Given the description of an element on the screen output the (x, y) to click on. 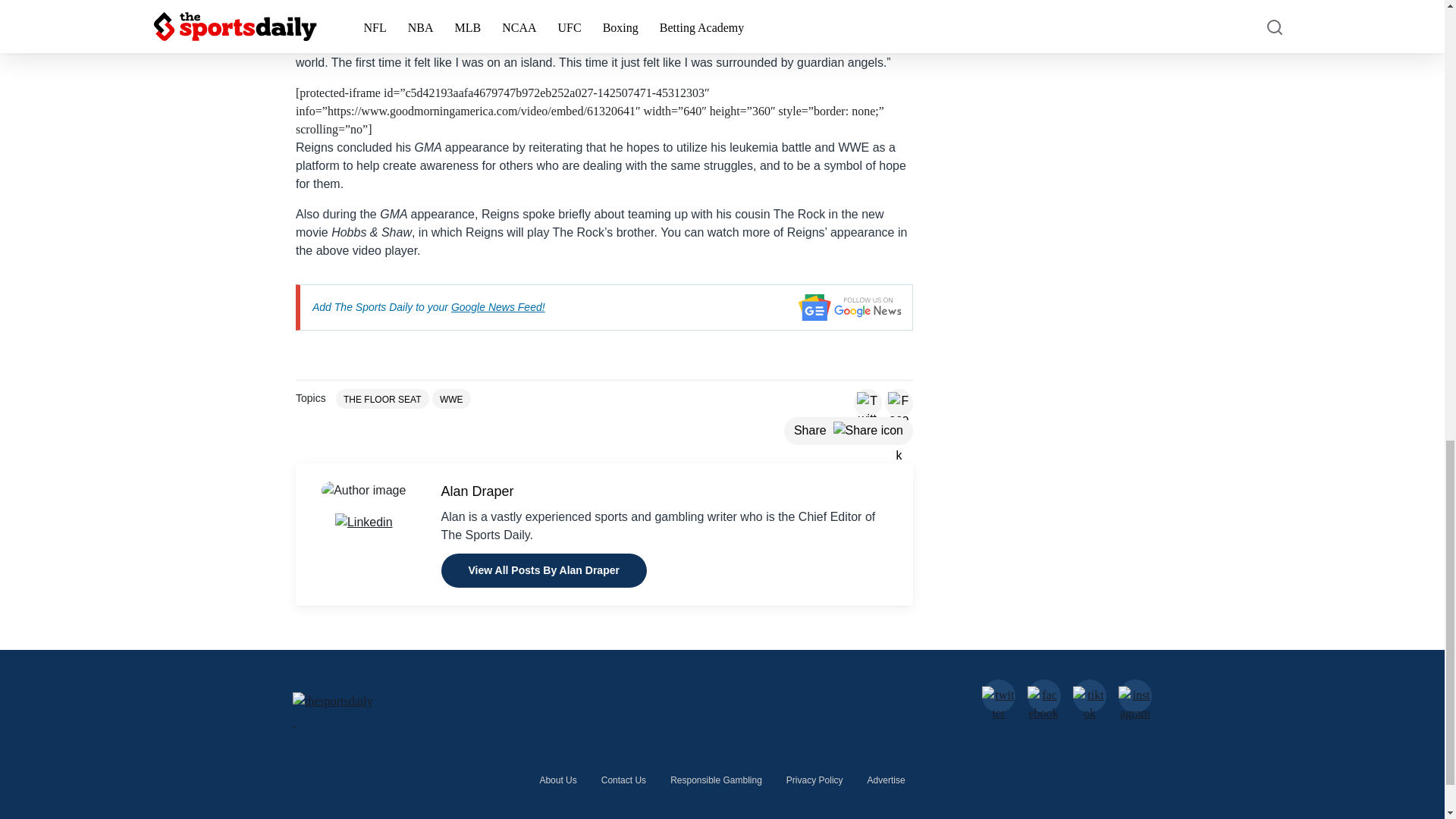
Share   (848, 430)
WWE (451, 398)
THE FLOOR SEAT (382, 398)
Google News Feed! (497, 306)
View All Posts By Alan Draper (543, 570)
